Given the description of an element on the screen output the (x, y) to click on. 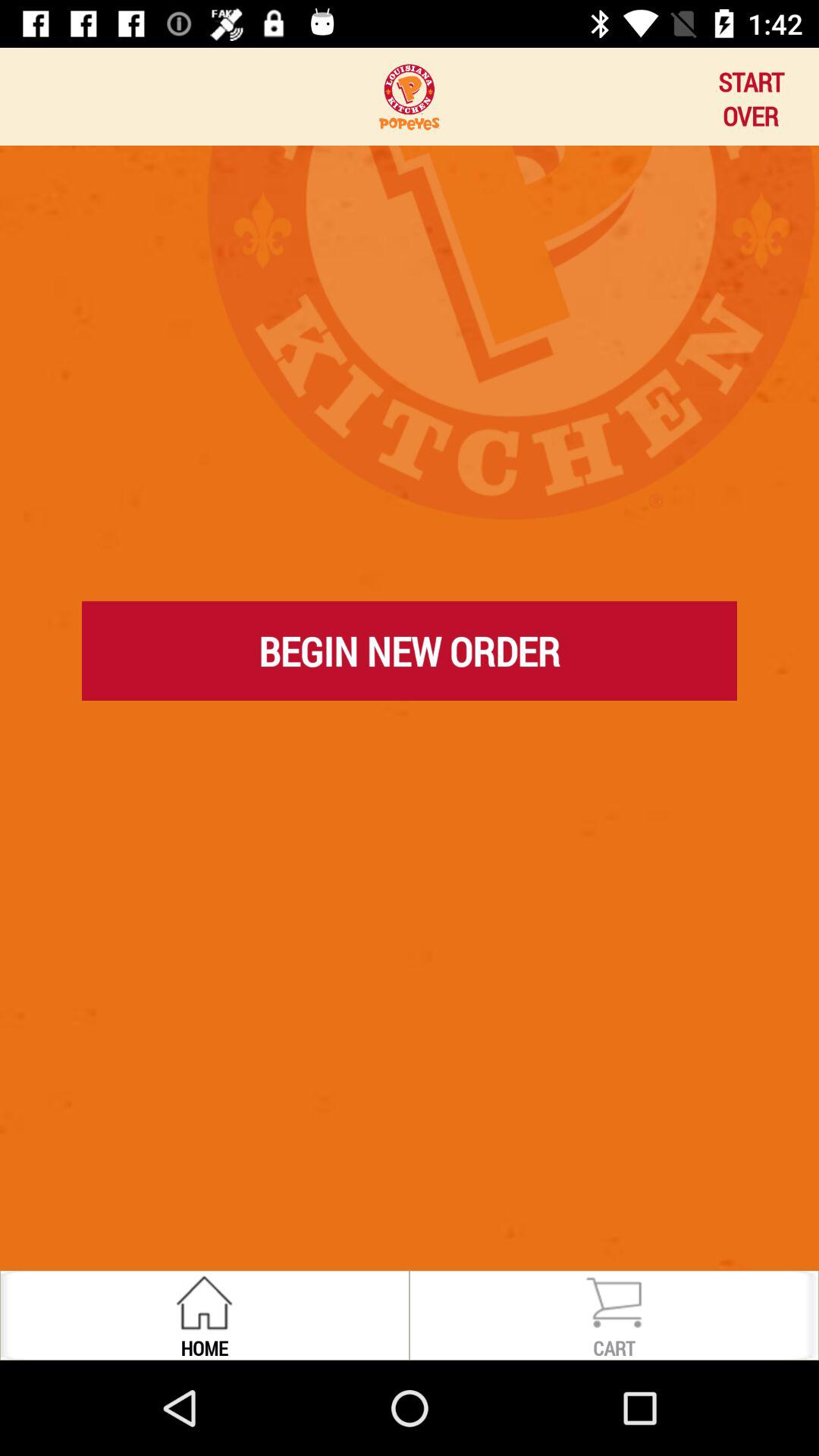
flip until start over icon (750, 96)
